Given the description of an element on the screen output the (x, y) to click on. 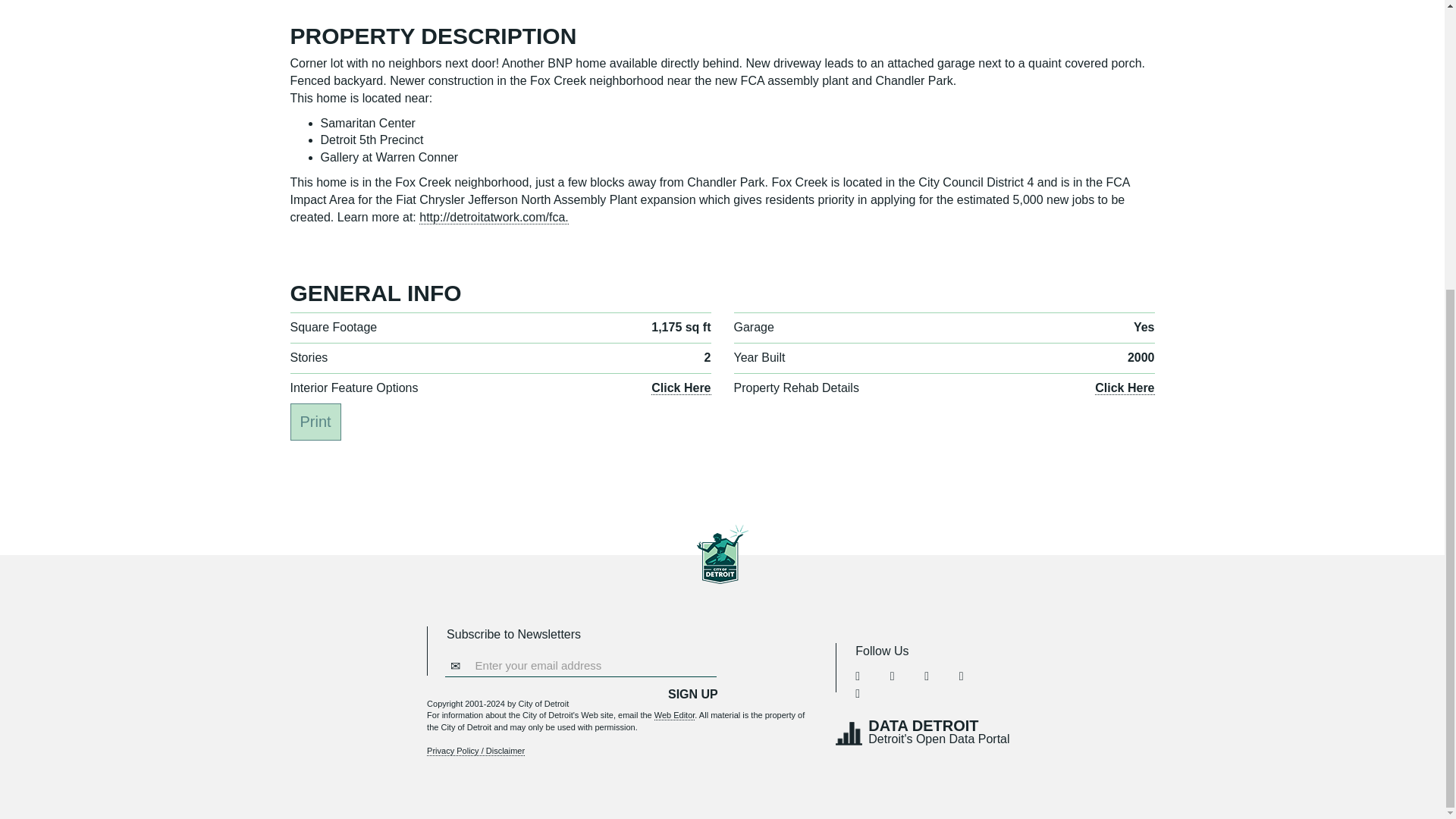
Sign Up (692, 694)
